Given the description of an element on the screen output the (x, y) to click on. 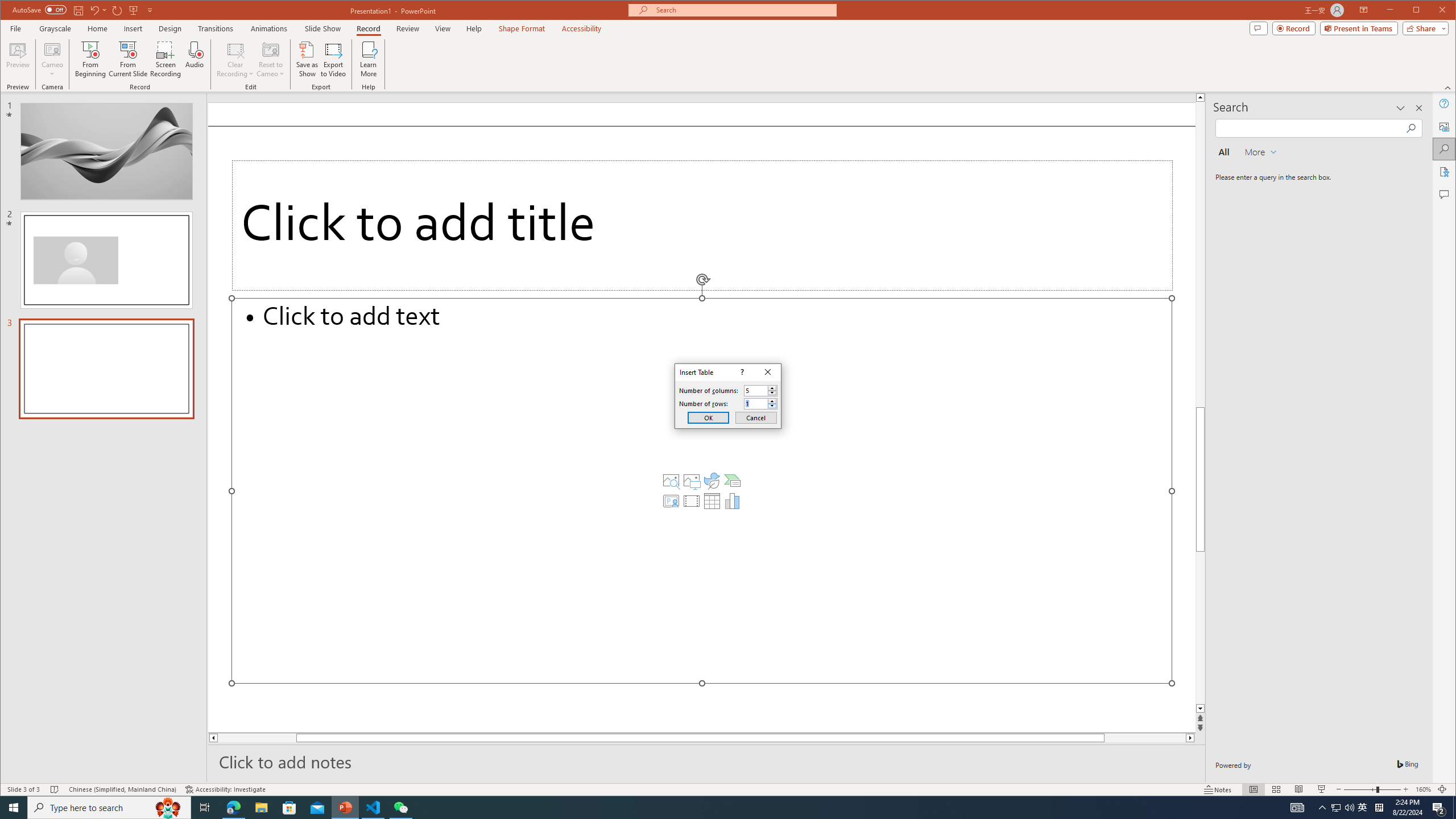
Zoom 160% (1422, 789)
OK (708, 417)
